Given the description of an element on the screen output the (x, y) to click on. 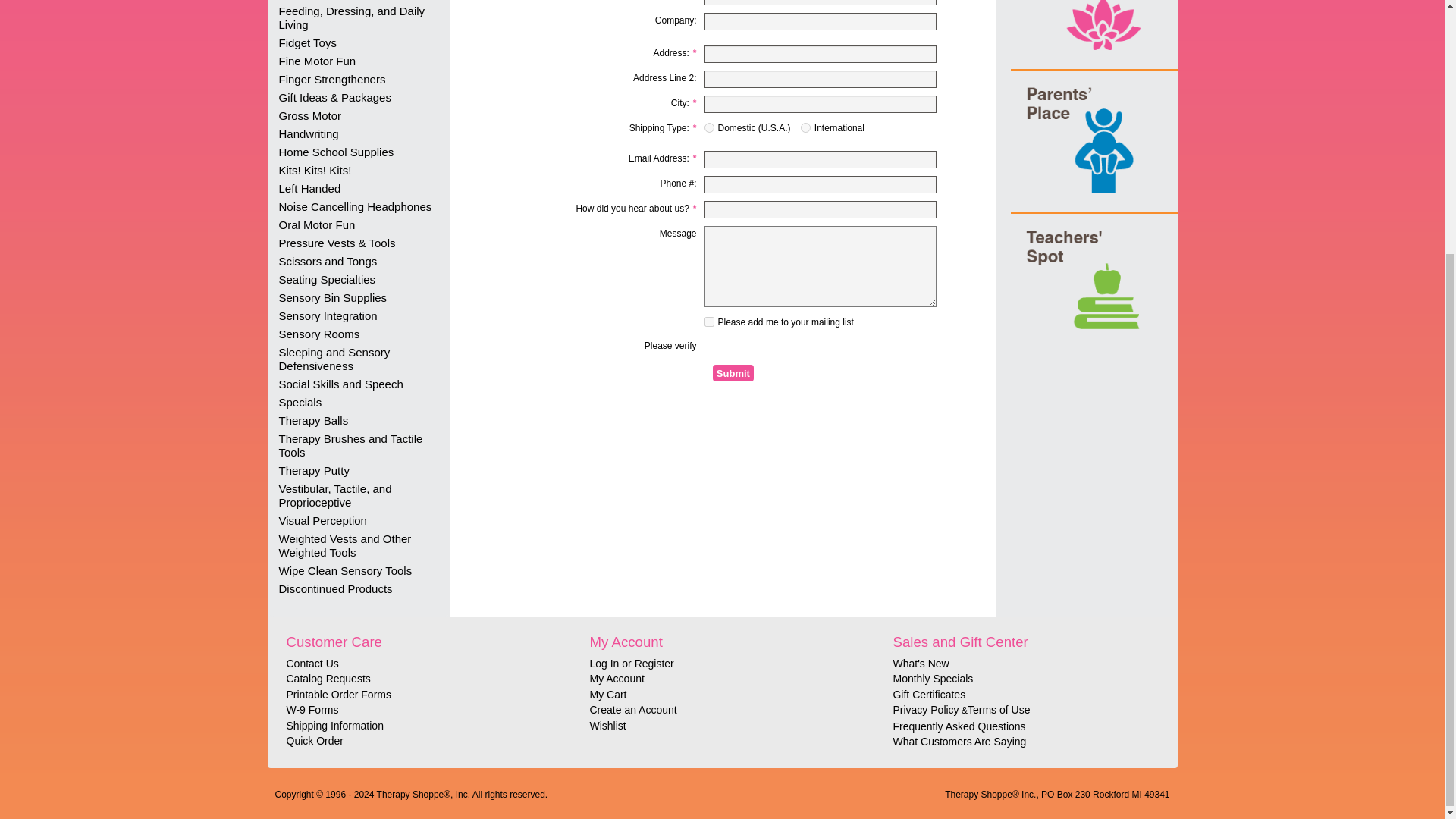
Domestic (708, 127)
International (805, 127)
Please add me to your mailing list (708, 321)
